Given the description of an element on the screen output the (x, y) to click on. 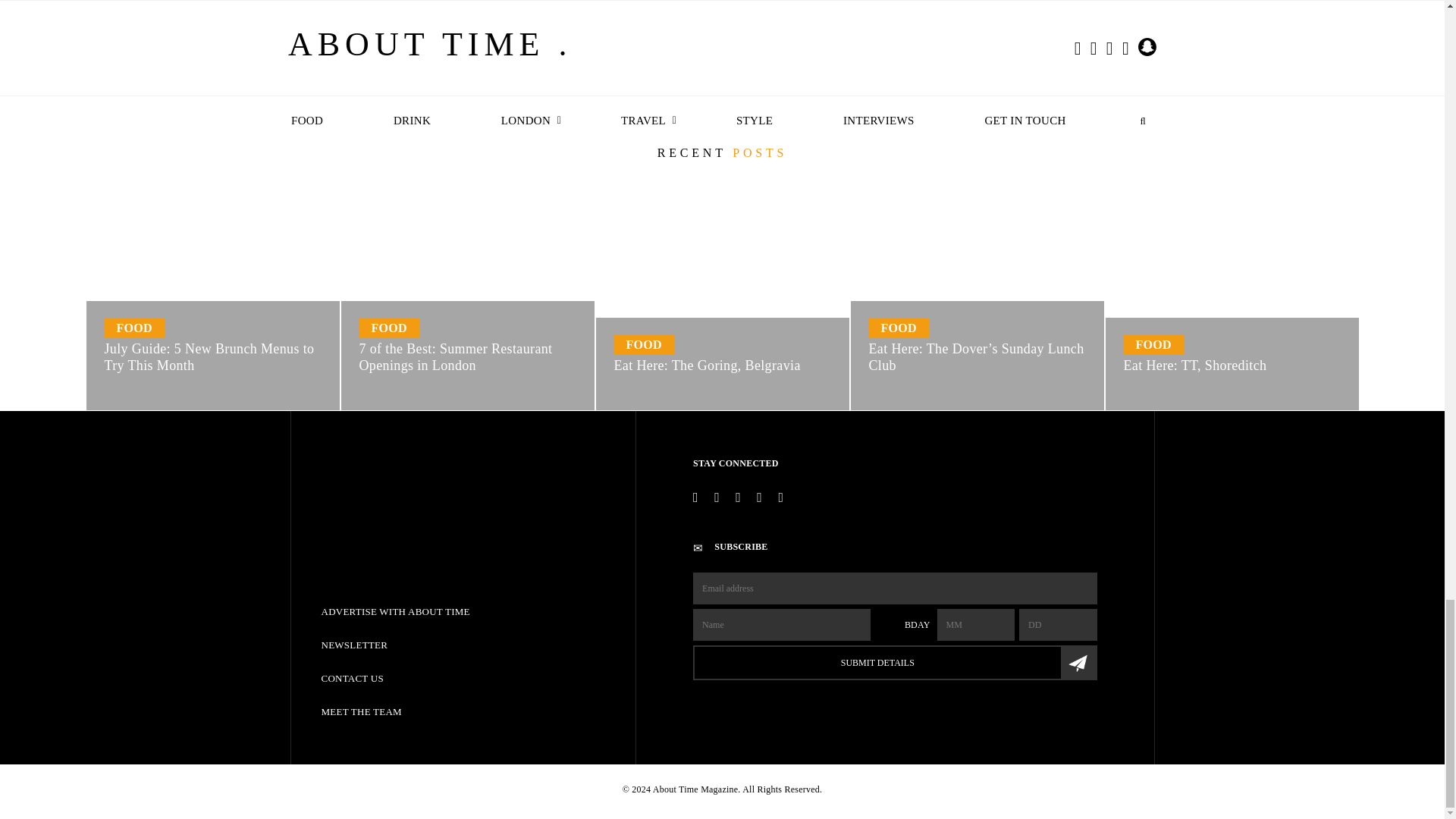
SUBMIT DETAILS (894, 662)
